Given the description of an element on the screen output the (x, y) to click on. 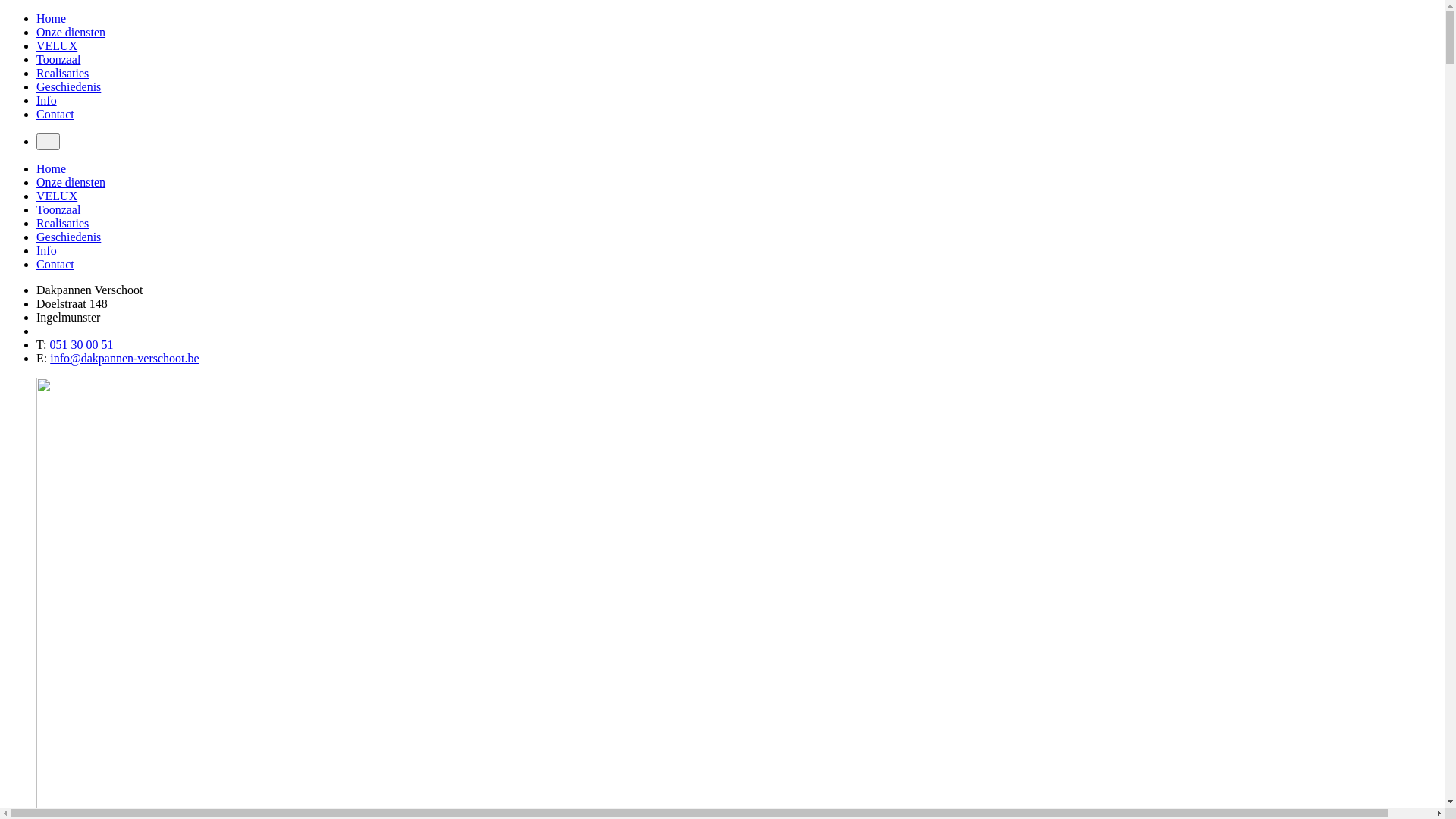
Realisaties Element type: text (62, 72)
Toonzaal Element type: text (58, 209)
Contact Element type: text (55, 113)
Realisaties Element type: text (62, 222)
Home Element type: text (50, 168)
Home Element type: text (50, 18)
Contact Element type: text (55, 263)
VELUX Element type: text (56, 45)
Onze diensten Element type: text (70, 31)
info@dakpannen-verschoot.be Element type: text (124, 357)
VELUX Element type: text (56, 195)
Geschiedenis Element type: text (68, 86)
Toonzaal Element type: text (58, 59)
Info Element type: text (46, 100)
051 30 00 51 Element type: text (80, 344)
Onze diensten Element type: text (70, 181)
Geschiedenis Element type: text (68, 236)
Info Element type: text (46, 250)
